Given the description of an element on the screen output the (x, y) to click on. 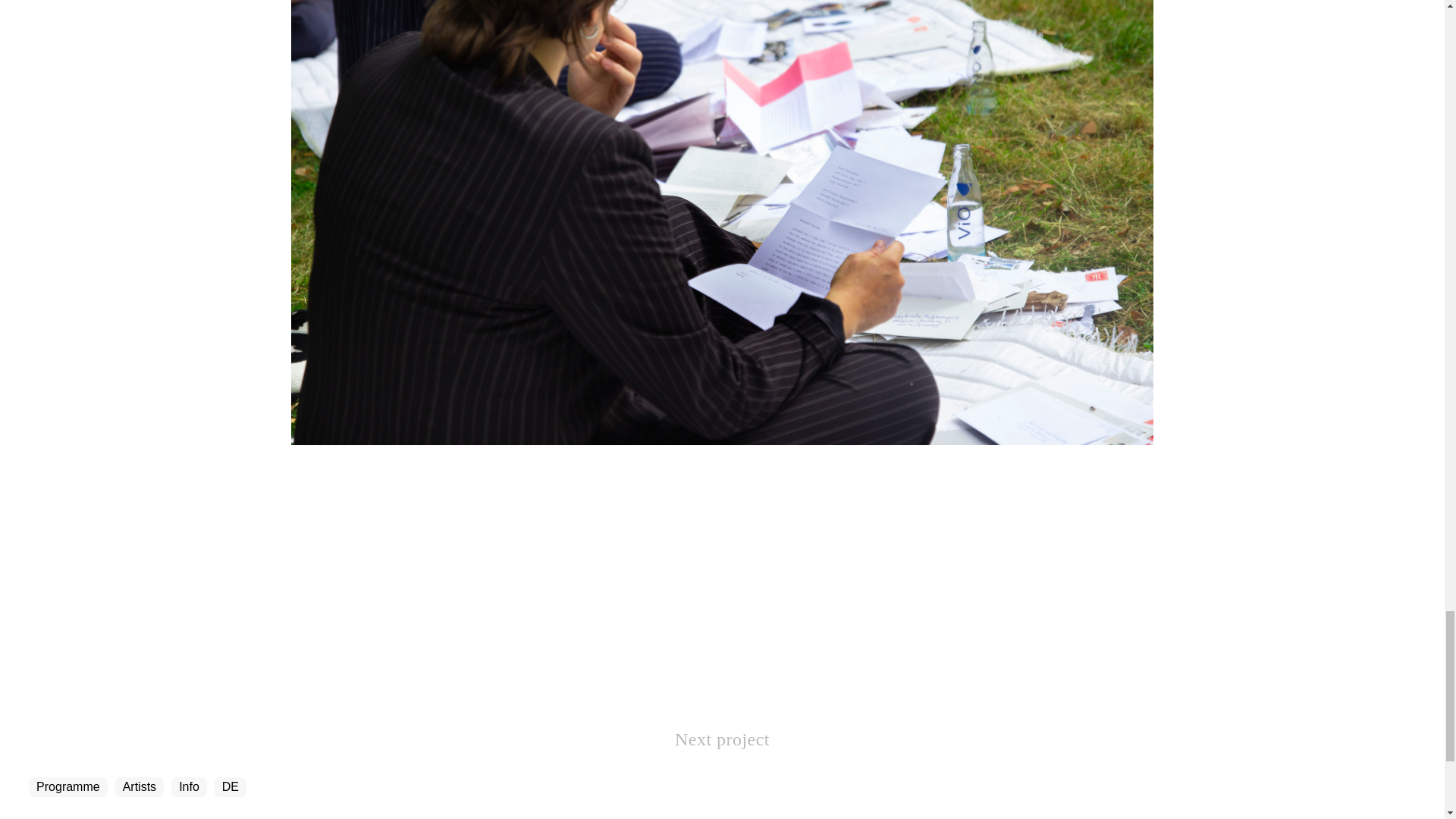
Next project (722, 739)
